Given the description of an element on the screen output the (x, y) to click on. 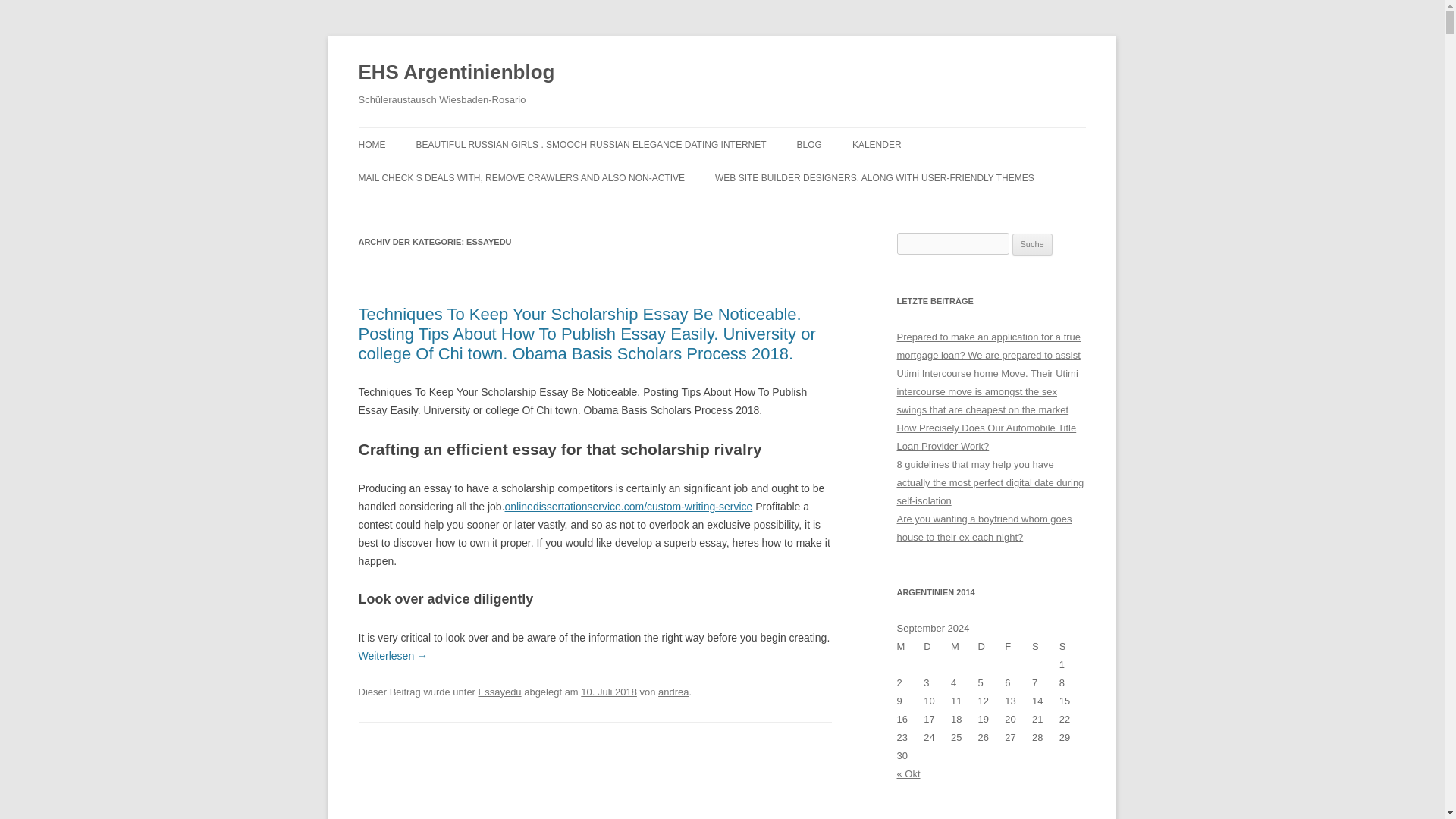
10. Juli 2018 (608, 691)
andrea (673, 691)
Suche (1031, 244)
Essayedu (500, 691)
15:48 (608, 691)
EHS Argentinienblog (456, 72)
Donnerstag (992, 647)
EHS Argentinienblog (456, 72)
Dienstag (936, 647)
